Given the description of an element on the screen output the (x, y) to click on. 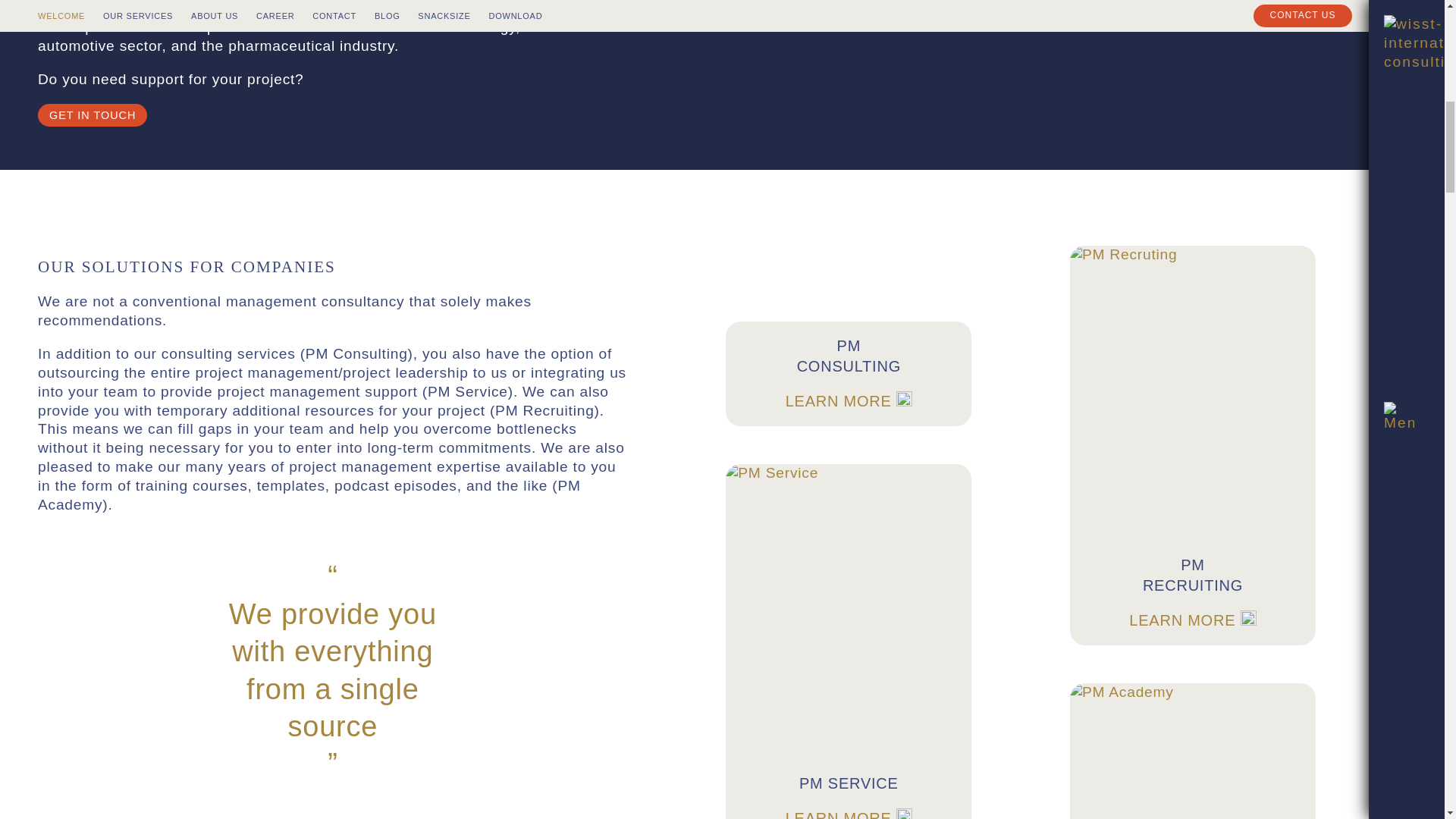
Get in touch (92, 115)
LEARN MORE (849, 814)
Wisst International Consulting (1400, 302)
GET IN TOUCH (92, 115)
LEARN MORE (1192, 619)
LEARN MORE (849, 401)
DE (1400, 302)
